Given the description of an element on the screen output the (x, y) to click on. 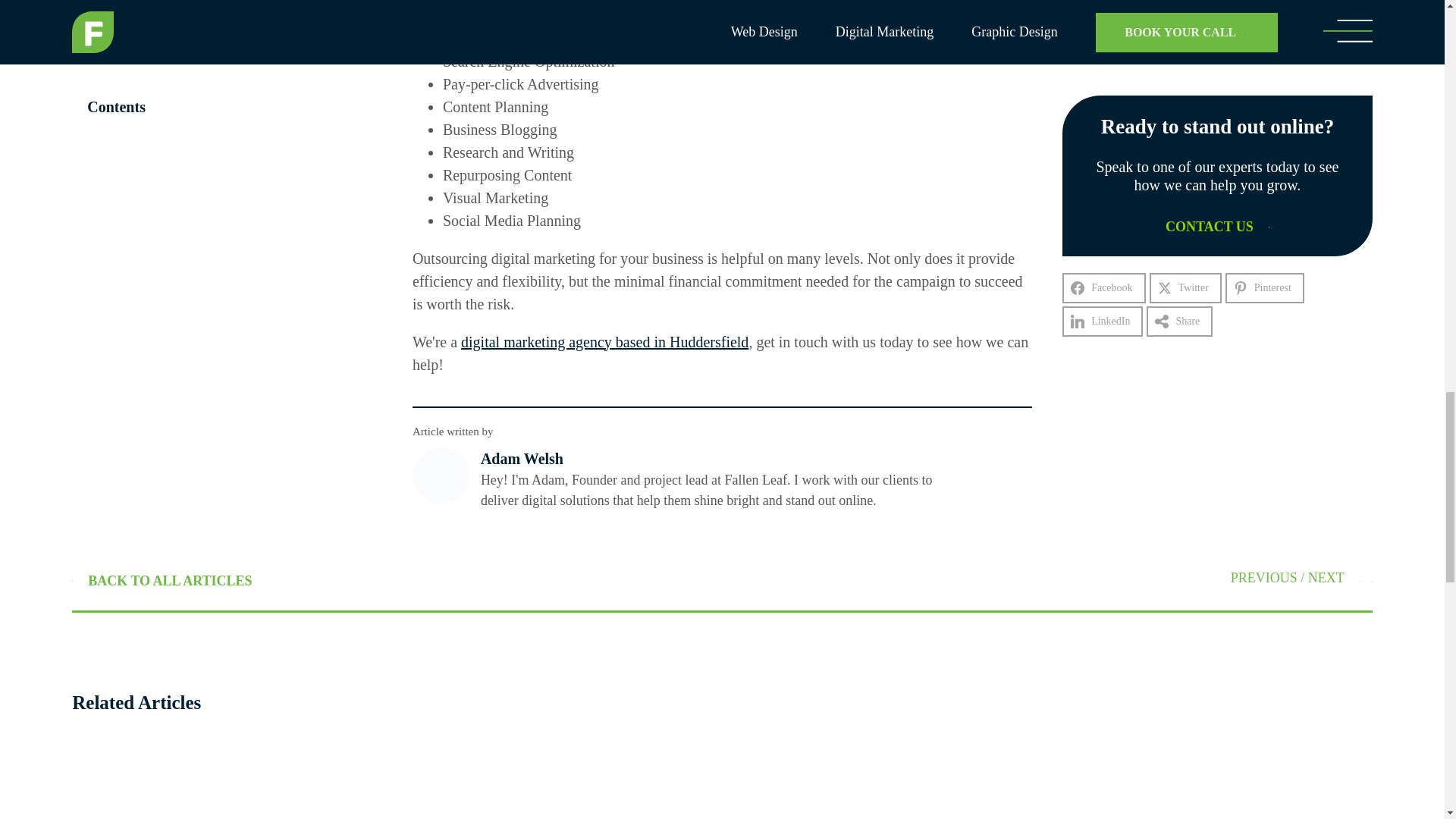
BACK TO ALL ARTICLES (161, 580)
digital marketing agency based in Huddersfield (604, 341)
Our guide to hiring the right SEO agency (1365, 577)
